Given the description of an element on the screen output the (x, y) to click on. 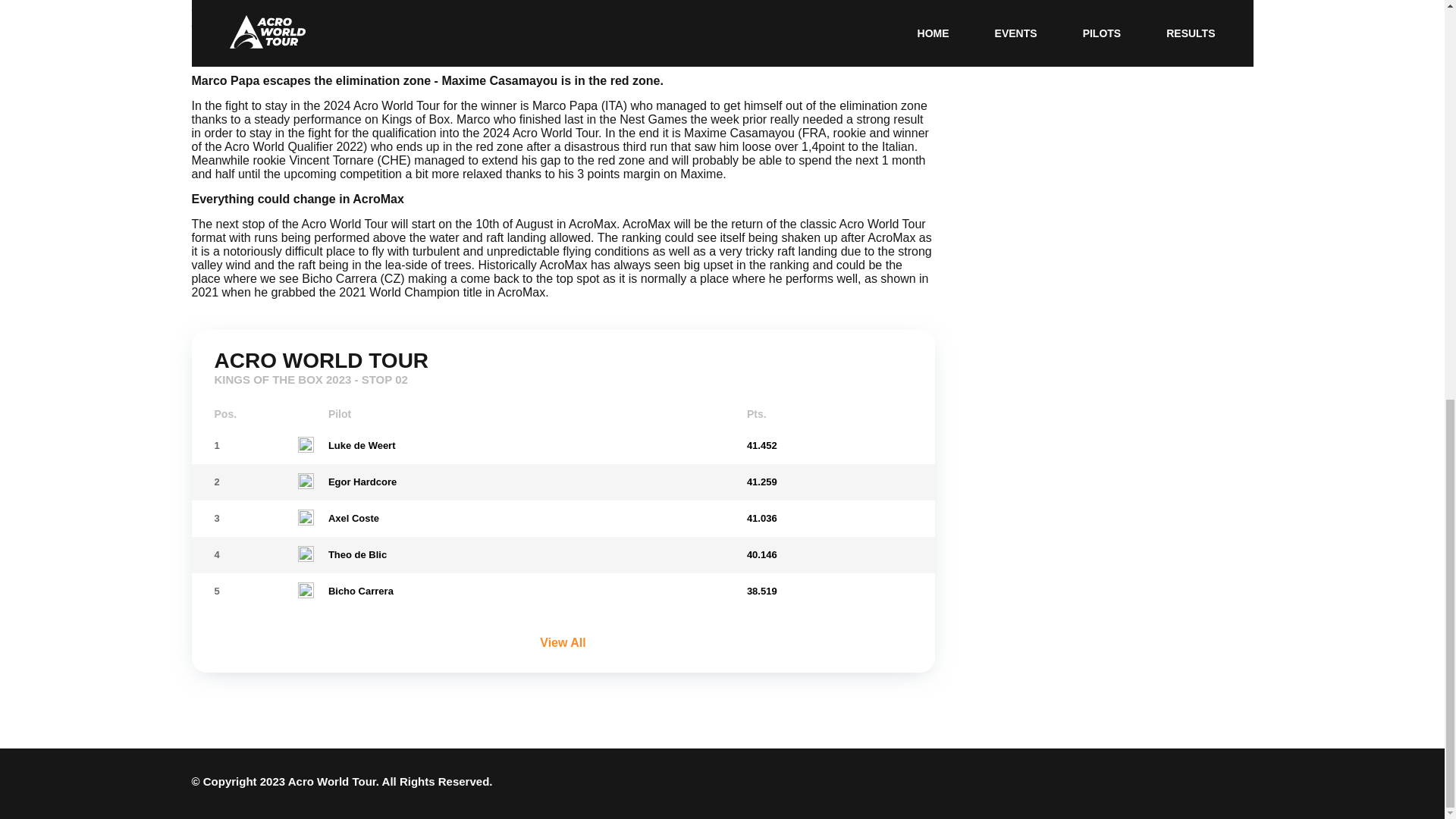
Instagram (1189, 782)
Facebook (1215, 782)
View All (562, 642)
Youtube (1241, 782)
